Given the description of an element on the screen output the (x, y) to click on. 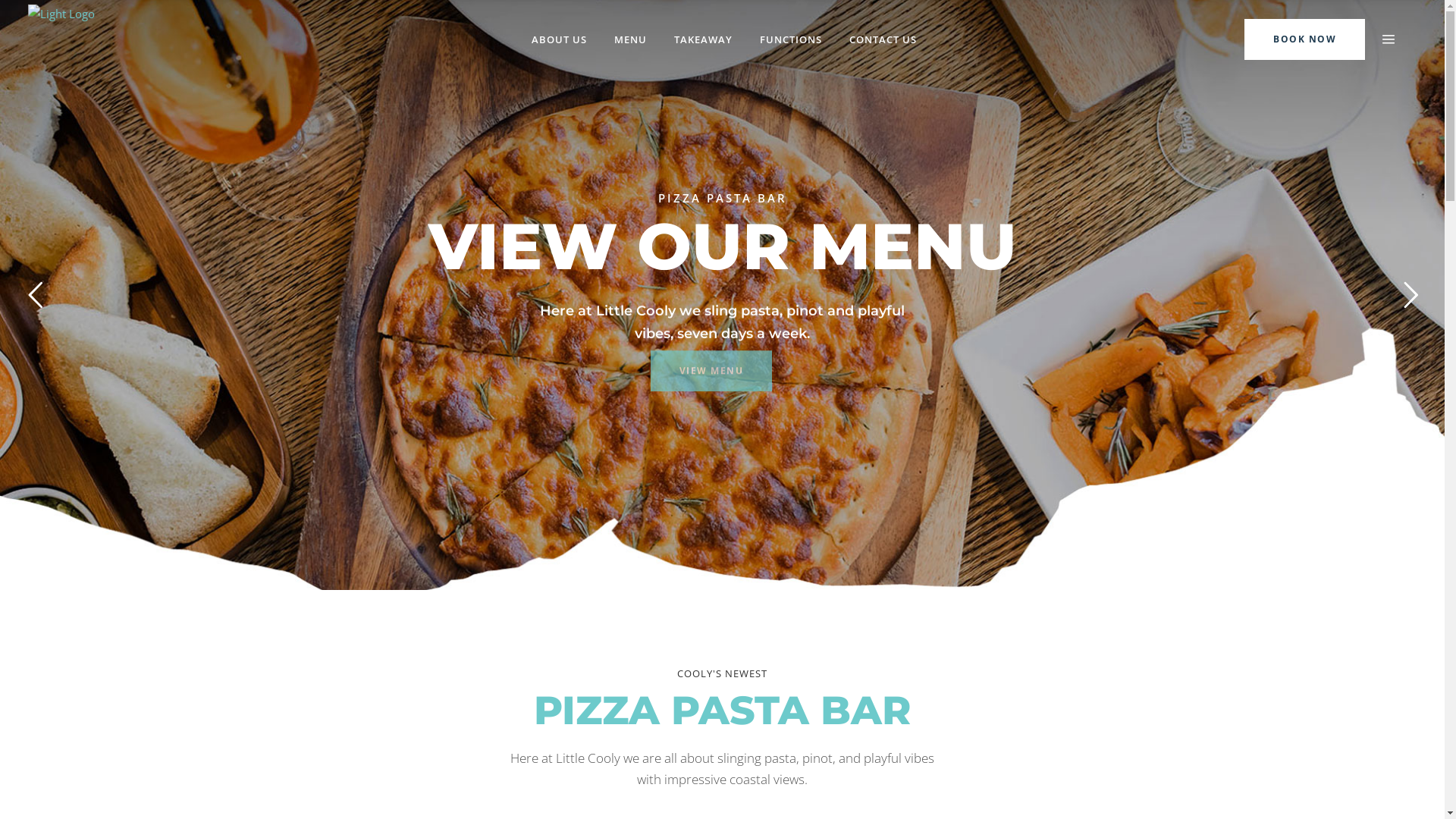
TAKEAWAY Element type: text (702, 39)
CONTACT US Element type: text (882, 39)
FUNCTIONS Element type: text (790, 39)
ABOUT US Element type: text (558, 39)
MENU Element type: text (630, 39)
BOOK NOW Element type: text (1304, 38)
